Given the description of an element on the screen output the (x, y) to click on. 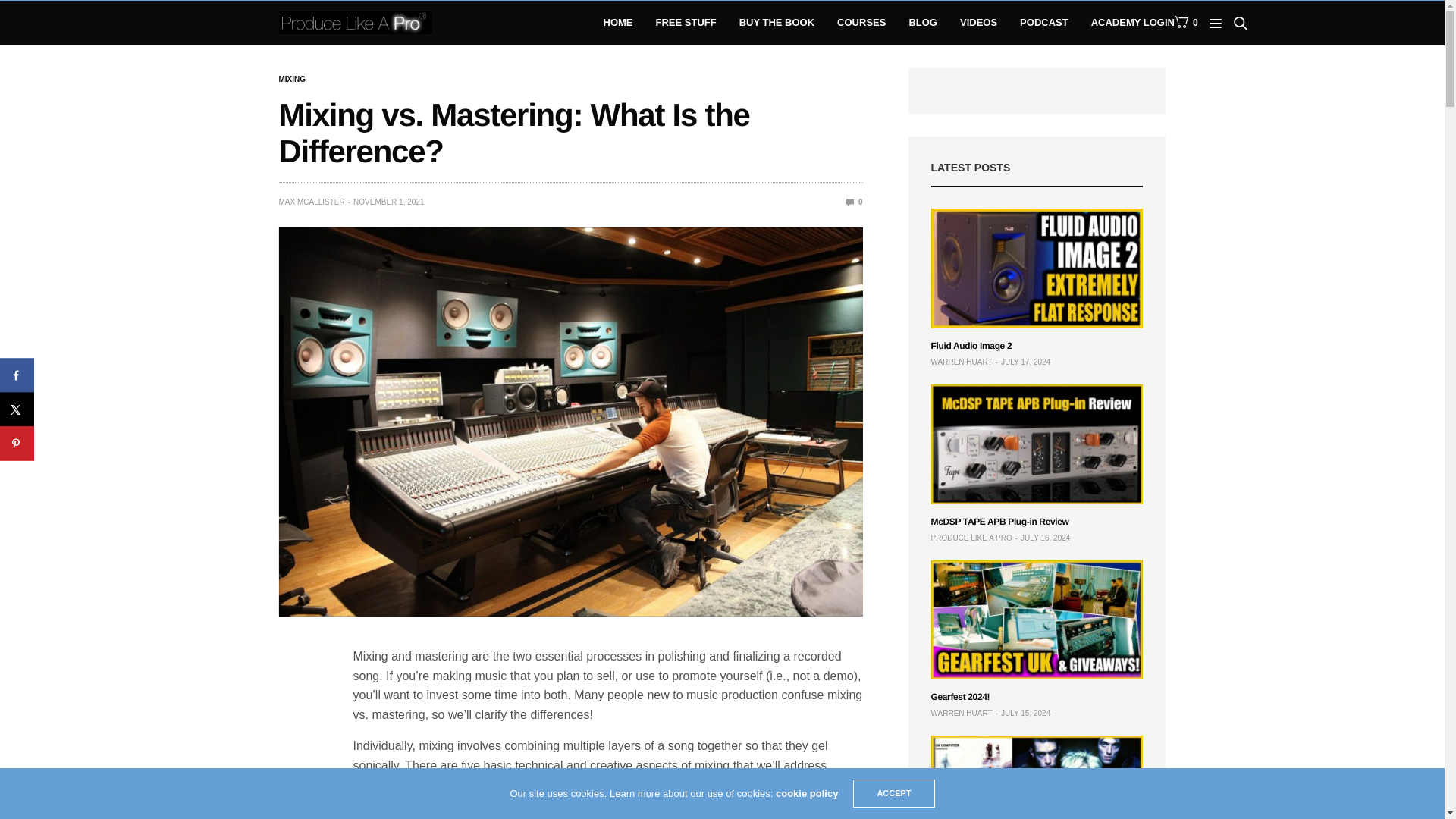
Search (1218, 66)
Mixing vs. Mastering: What Is the Difference? (853, 202)
BLOG (922, 23)
Mixing (292, 79)
PODCAST (1044, 23)
VIDEOS (978, 23)
MAX MCALLISTER (312, 202)
HOME (618, 23)
Posts by Warren Huart (961, 362)
COURSES (861, 23)
McDSP TAPE APB Plug-in Review (1036, 444)
Posts by Max McAllister (312, 202)
Fluid Audio Image 2 (971, 345)
FREE STUFF (685, 23)
